Given the description of an element on the screen output the (x, y) to click on. 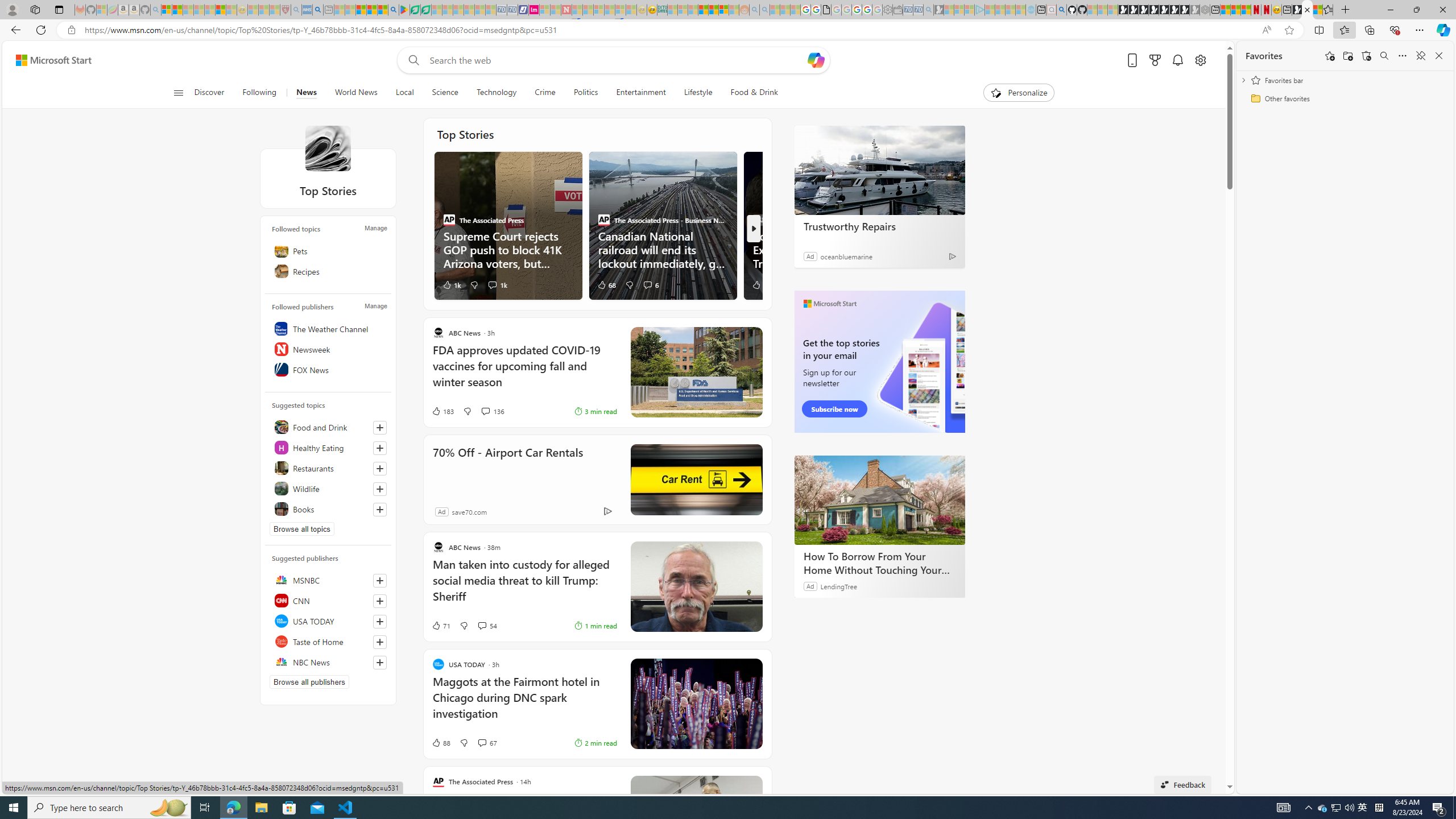
github - Search (1061, 9)
